Given the description of an element on the screen output the (x, y) to click on. 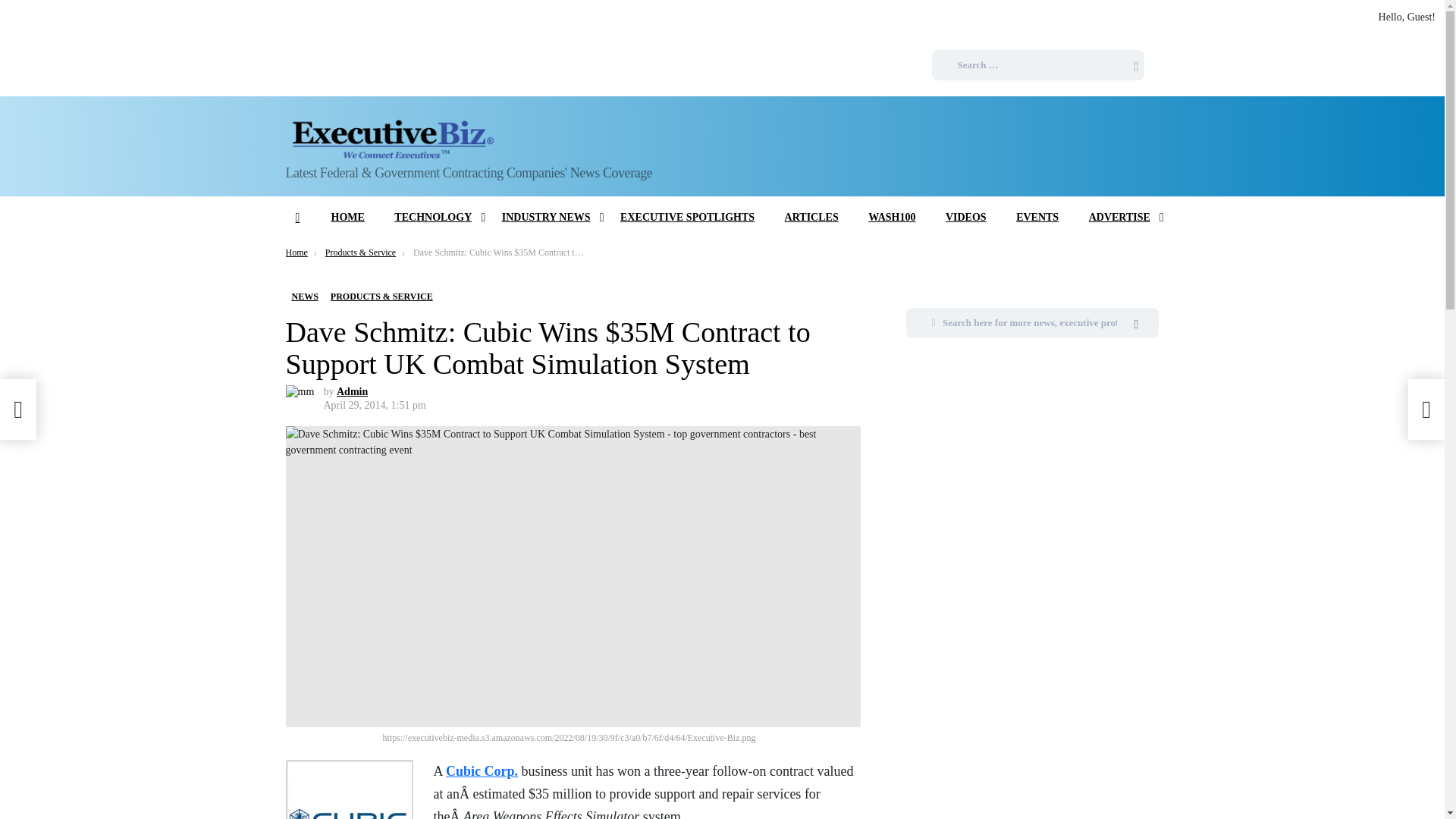
WASH100 (891, 217)
Posts by Admin (352, 391)
Menu (296, 217)
HOME (347, 217)
NEWS (304, 296)
ARTICLES (811, 217)
EXECUTIVE SPOTLIGHTS (687, 217)
INDUSTRY NEWS (545, 217)
TECHNOLOGY (432, 217)
Search for: (1031, 322)
